Given the description of an element on the screen output the (x, y) to click on. 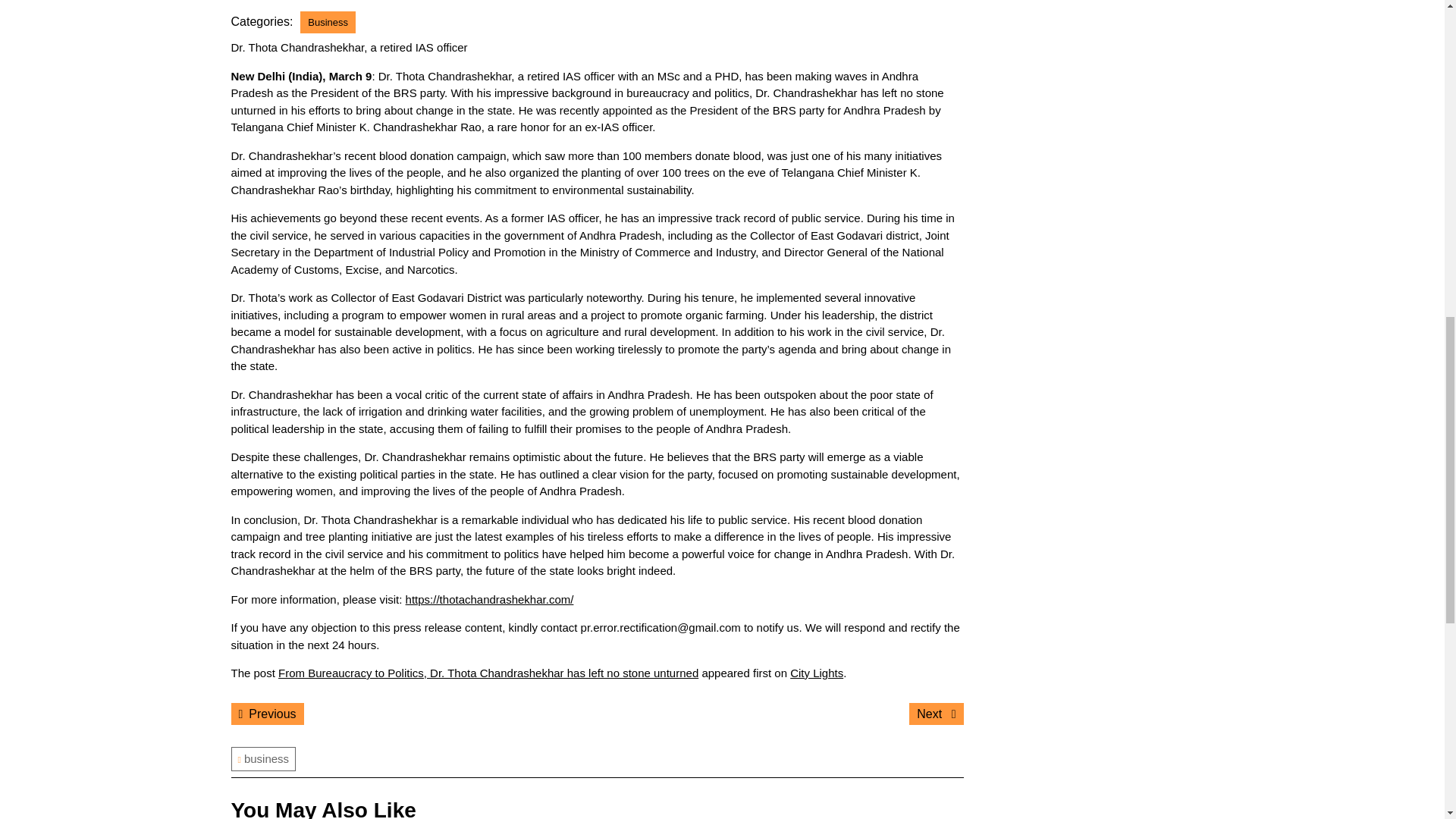
Business (327, 22)
business (935, 712)
City Lights (266, 712)
